Given the description of an element on the screen output the (x, y) to click on. 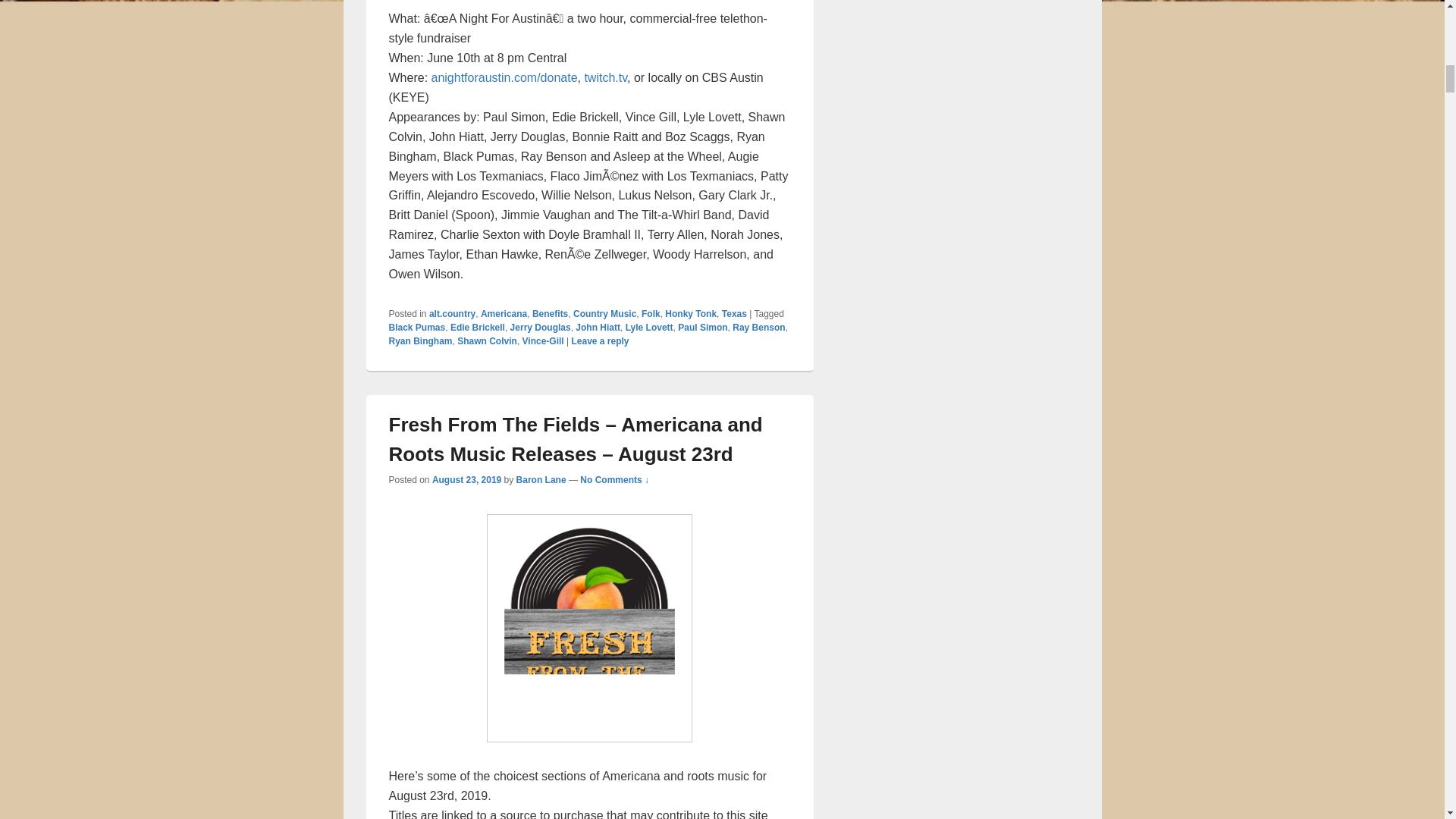
Ryan Bingham (419, 340)
Country Music (604, 313)
Leave a reply (599, 340)
Americana (503, 313)
Shawn Colvin (486, 340)
Lyle Lovett (649, 327)
John Hiatt (597, 327)
Paul Simon (702, 327)
twitch.tv (605, 77)
Black Pumas (416, 327)
